Given the description of an element on the screen output the (x, y) to click on. 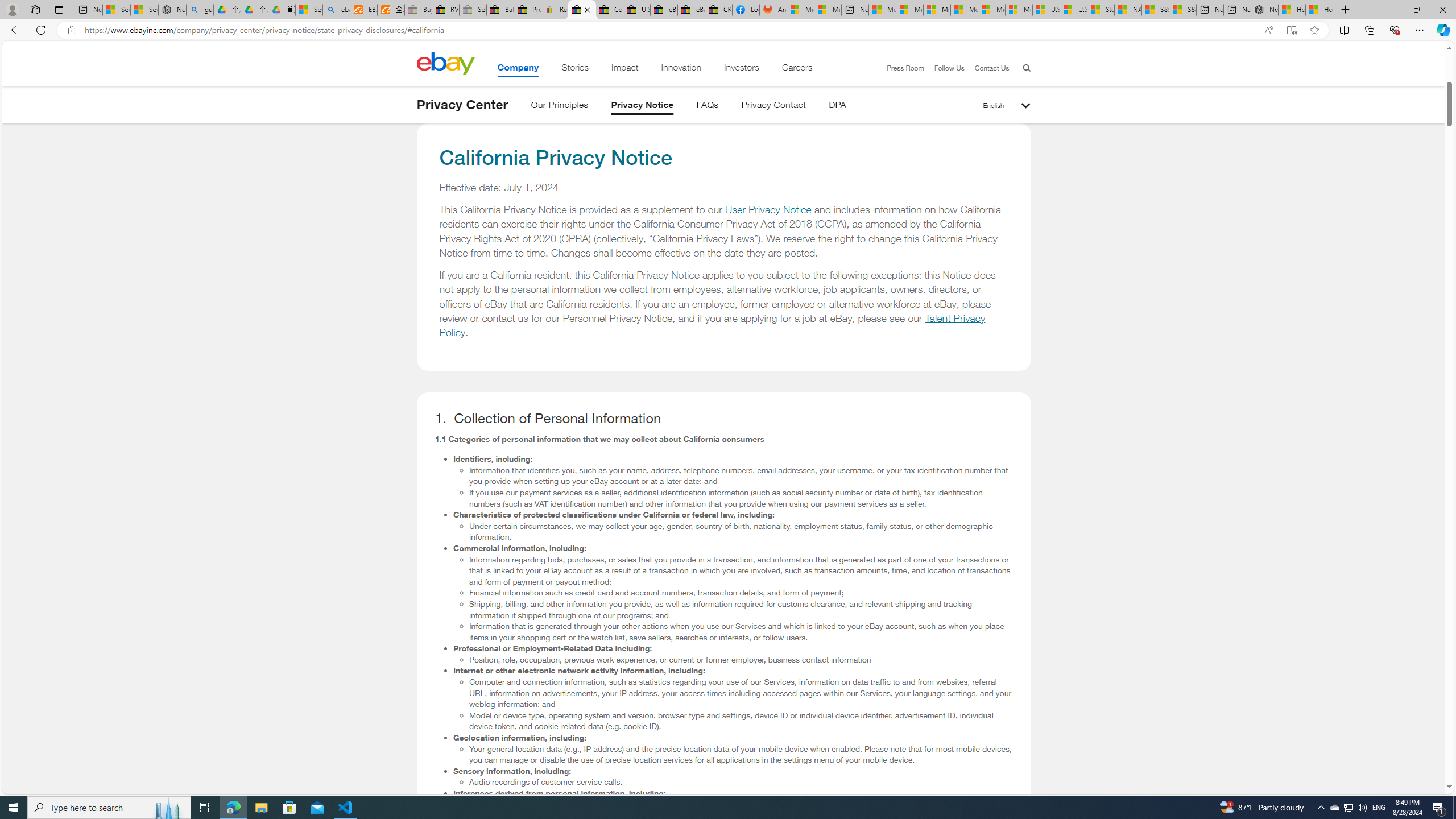
Microsoft account | Home (936, 9)
Press Room - eBay Inc. (527, 9)
Register: Create a personal eBay account (554, 9)
DPA (836, 107)
